Given the description of an element on the screen output the (x, y) to click on. 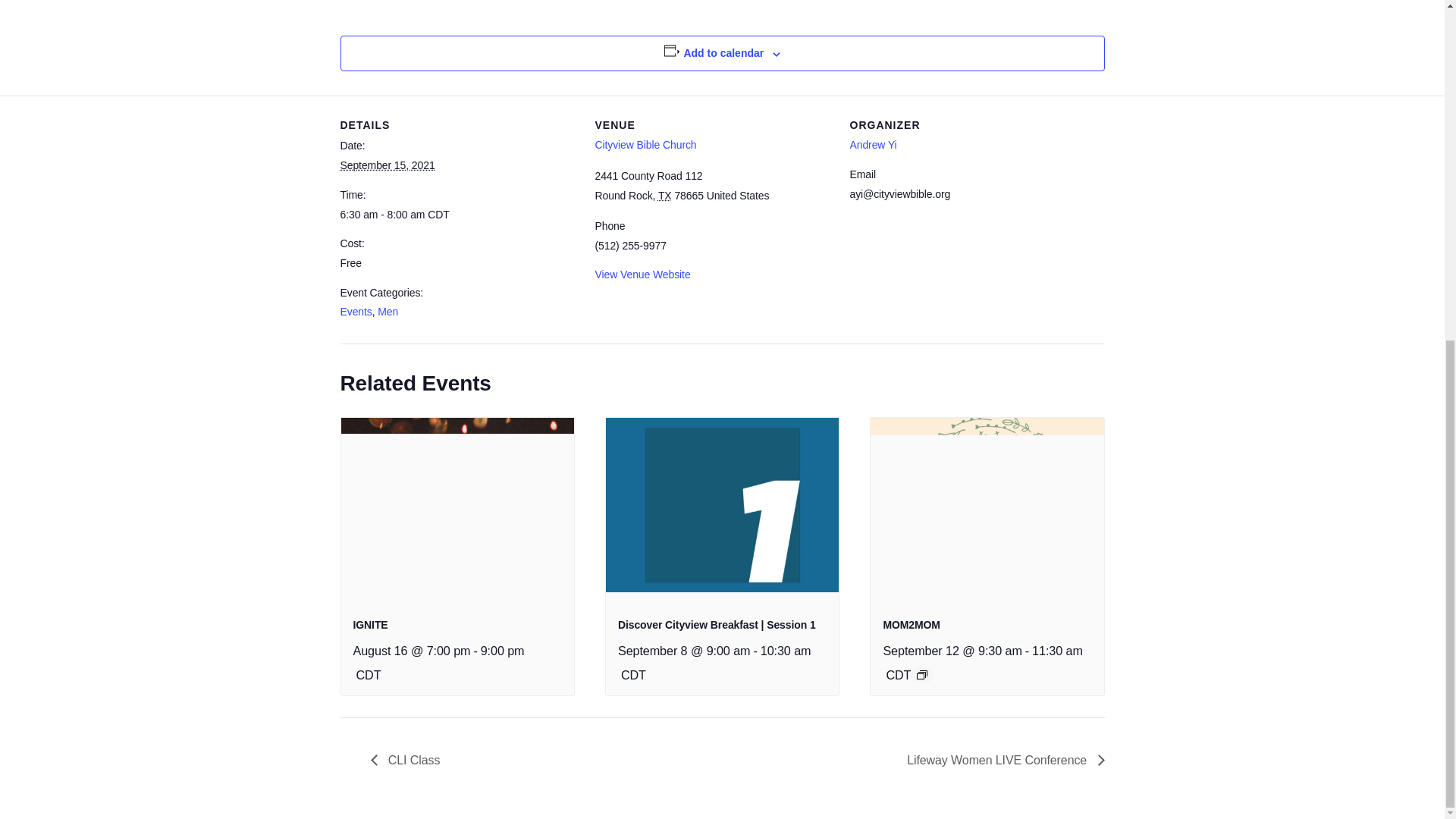
Andrew Yi (872, 144)
Event Series (922, 674)
2021-09-15 (457, 215)
Add to calendar (722, 52)
Texas (664, 195)
Events (355, 311)
2021-09-15 (386, 164)
